Given the description of an element on the screen output the (x, y) to click on. 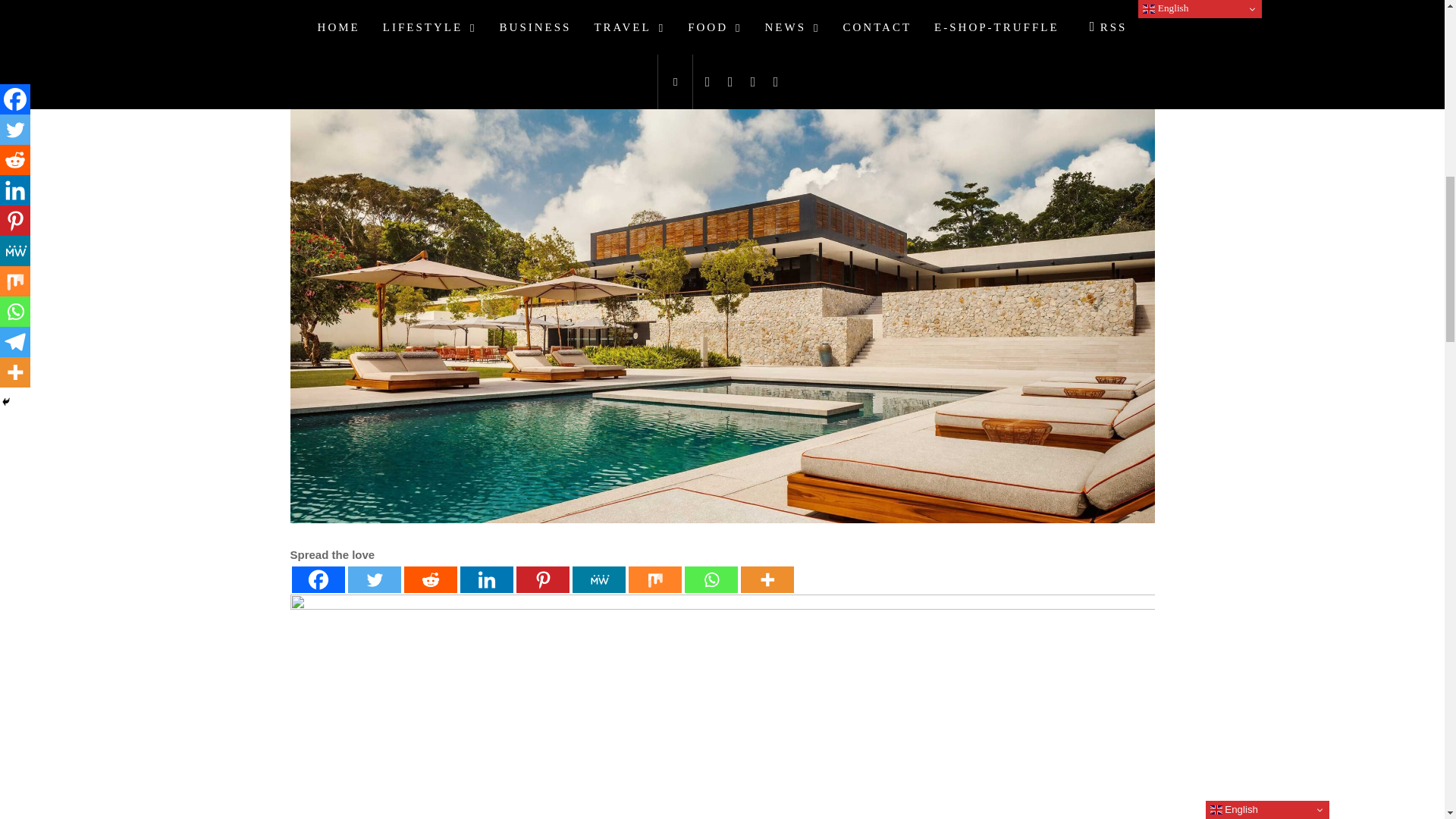
MeWe (598, 579)
Mix (654, 579)
Facebook (317, 579)
Reddit (430, 579)
More (766, 579)
Linkedin (486, 579)
Twitter (373, 579)
Pinterest (542, 579)
Whatsapp (710, 579)
